Given the description of an element on the screen output the (x, y) to click on. 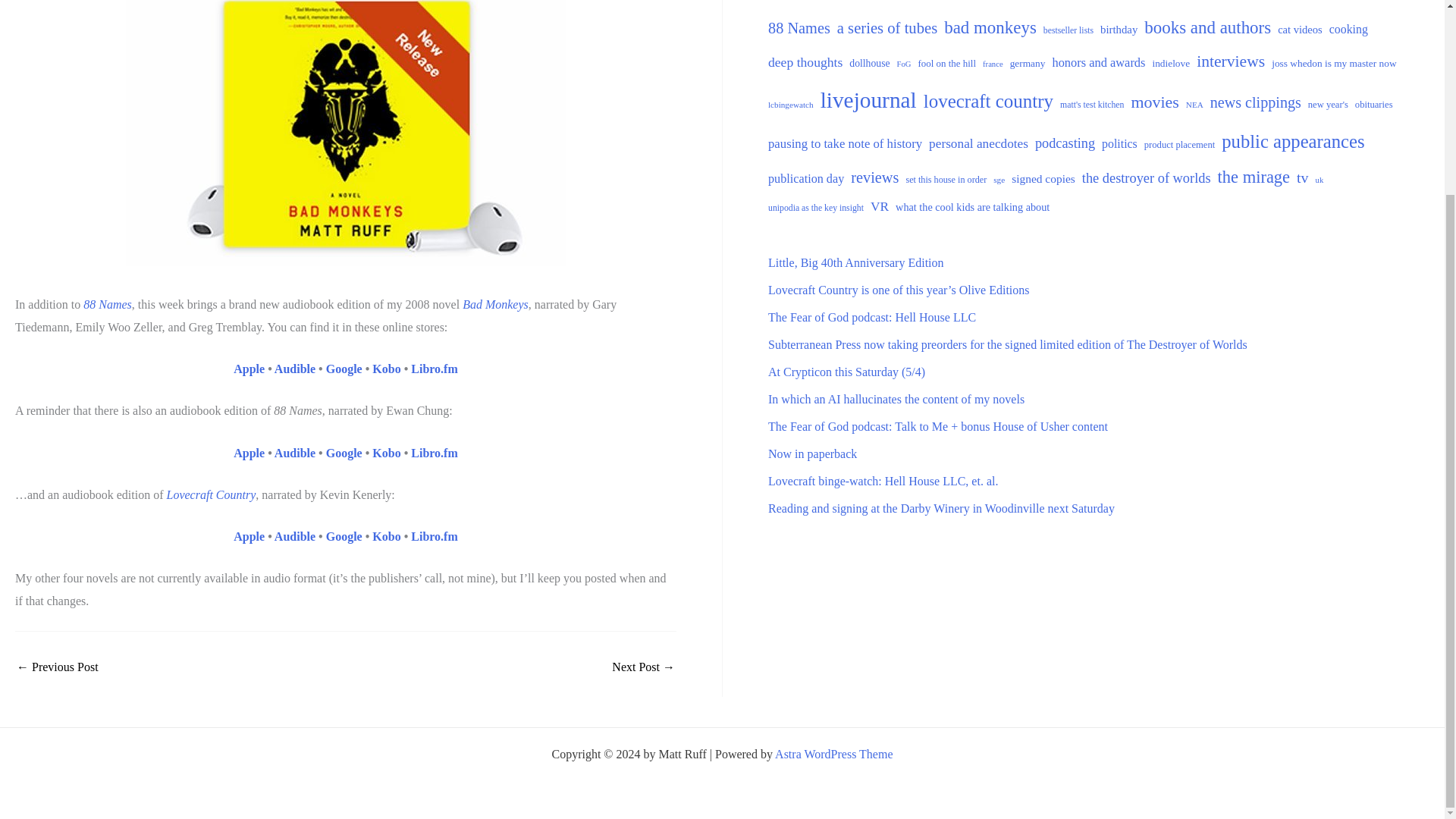
Creative Mornings virtual event, this Friday (643, 666)
88 Names podcast, episode 2: Yours Truly (57, 666)
